Given the description of an element on the screen output the (x, y) to click on. 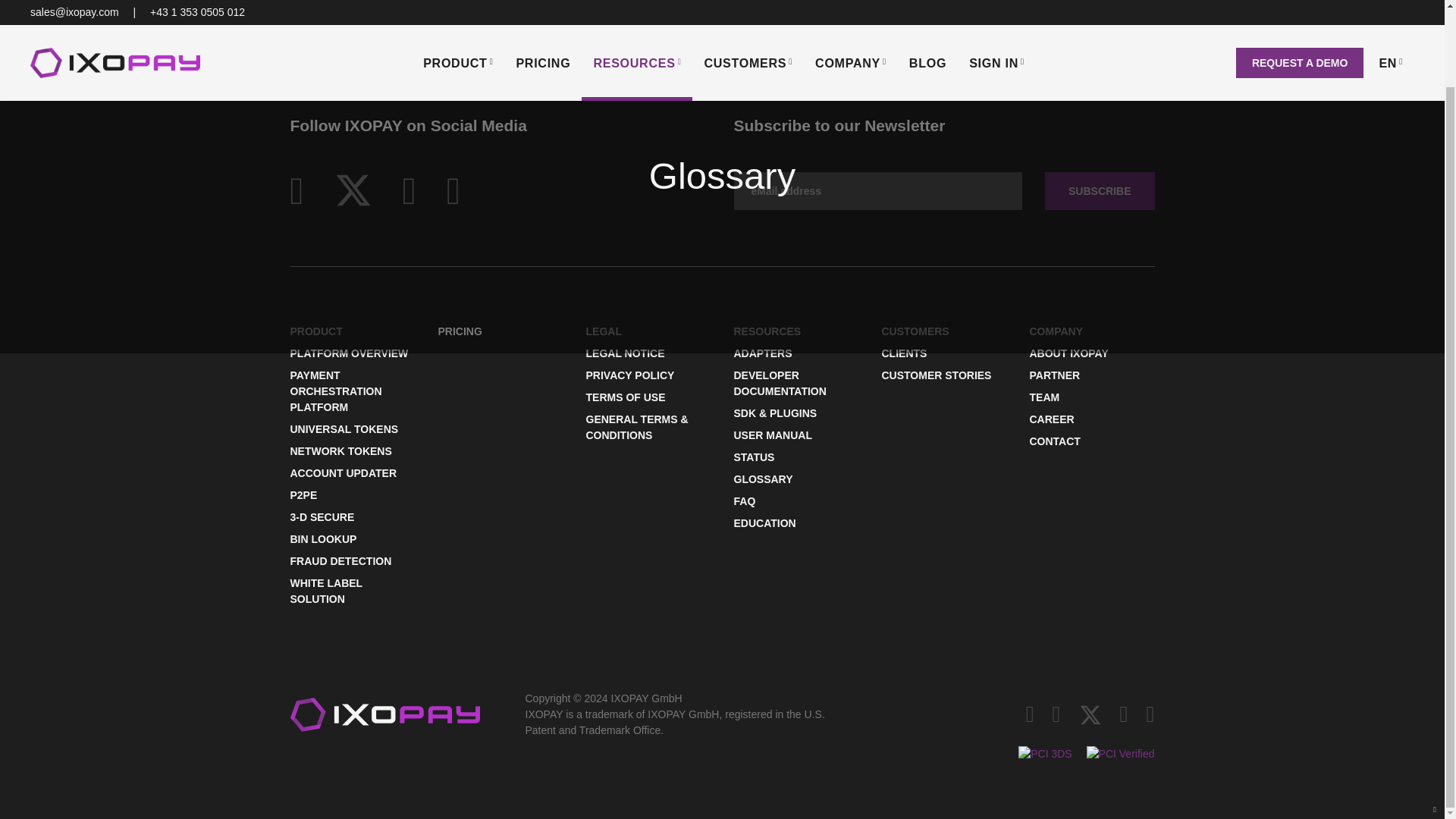
X (1090, 712)
X (353, 187)
